Given the description of an element on the screen output the (x, y) to click on. 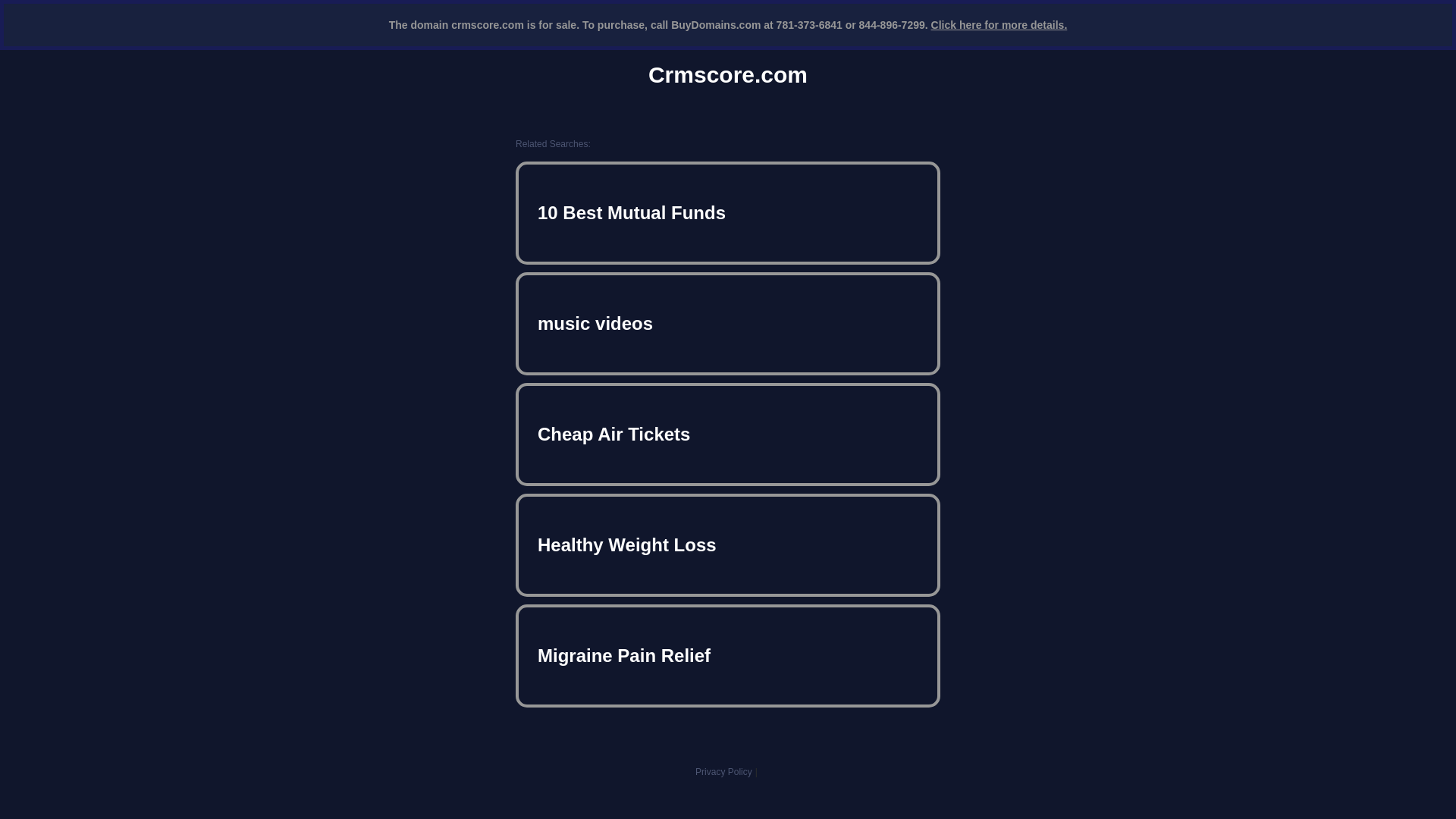
Cheap Air Tickets (727, 434)
10 Best Mutual Funds (727, 212)
music videos (727, 323)
Cheap Air Tickets (727, 434)
Migraine Pain Relief (727, 655)
10 Best Mutual Funds (727, 212)
music videos (727, 323)
Healthy Weight Loss (727, 544)
Crmscore.com (727, 74)
